Given the description of an element on the screen output the (x, y) to click on. 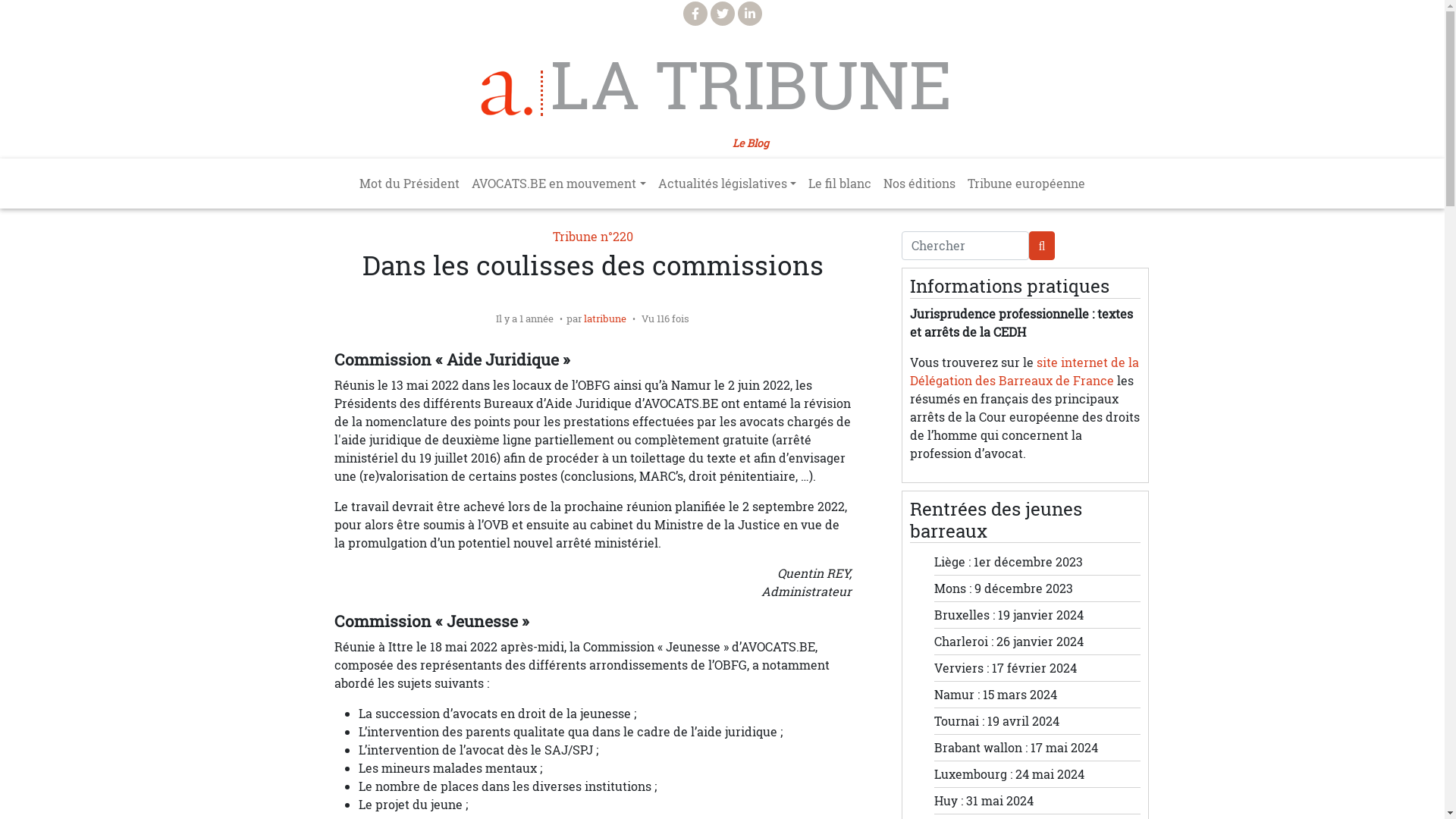
LA TRIBUNE Element type: text (750, 84)
Accueil Element type: hover (511, 92)
Le fil blanc Element type: text (839, 183)
latribune Element type: text (604, 318)
AVOCATS.BE en mouvement Element type: text (558, 183)
Chercher Element type: hover (964, 245)
